Given the description of an element on the screen output the (x, y) to click on. 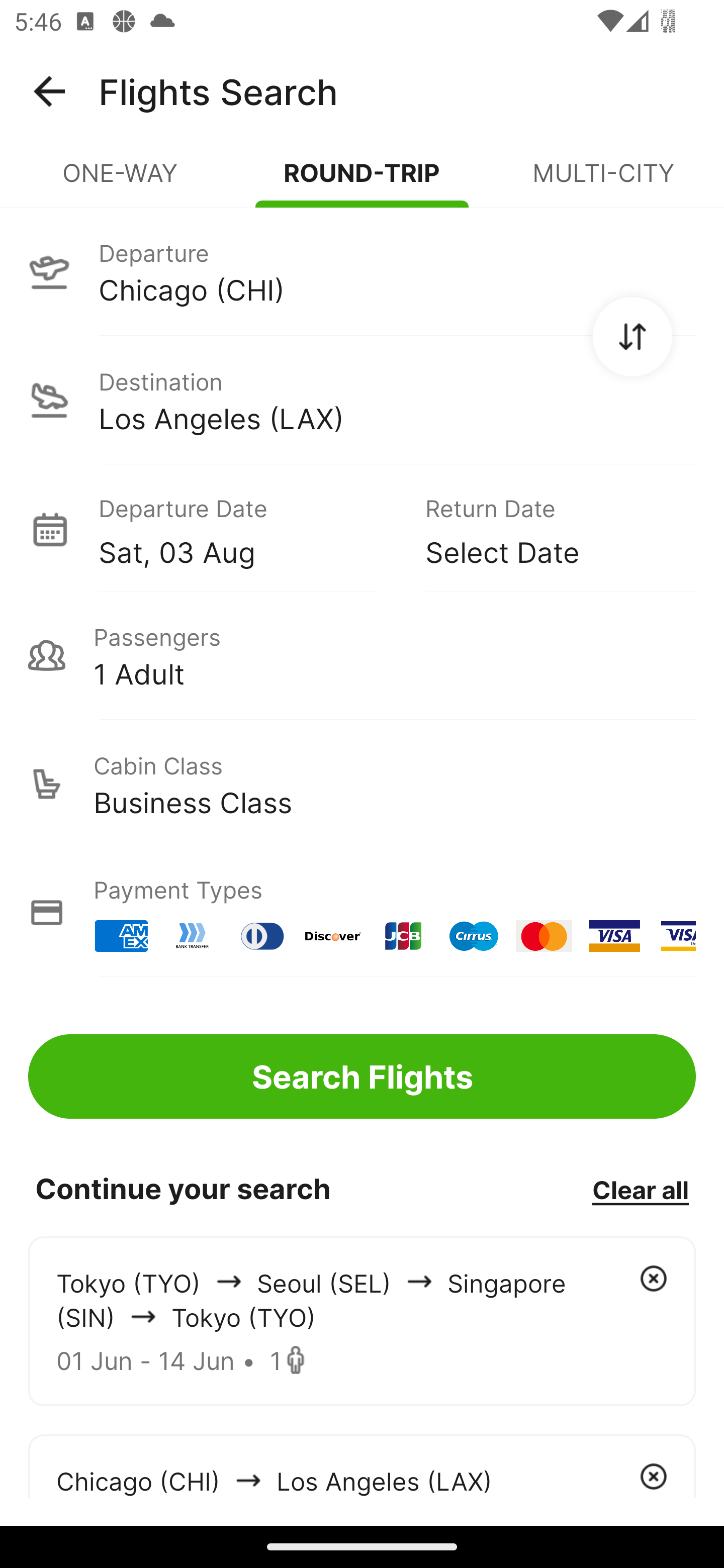
ONE-WAY (120, 180)
ROUND-TRIP (361, 180)
MULTI-CITY (603, 180)
Departure Chicago (CHI) (362, 270)
Destination Los Angeles (LAX) (362, 400)
Departure Date Sat, 03 Aug (247, 528)
Return Date Select Date (546, 528)
Passengers 1 Adult (362, 655)
Cabin Class Business Class (362, 783)
Payment Types (362, 912)
Search Flights (361, 1075)
Clear all (640, 1189)
Chicago (CHI)  arrowIcon  Los Angeles (LAX) (361, 1465)
